Given the description of an element on the screen output the (x, y) to click on. 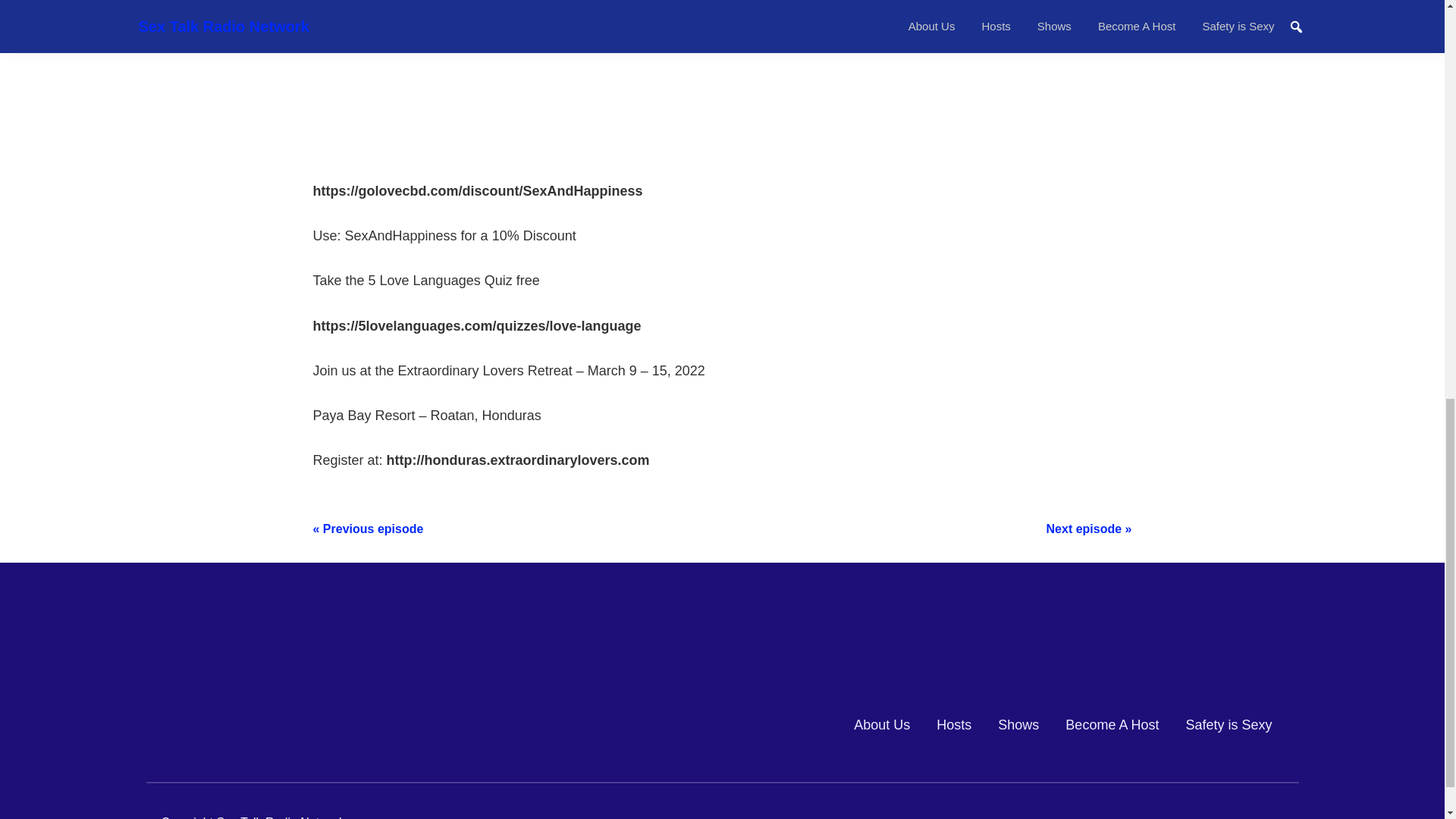
Safety is Sexy (1228, 724)
About Us (881, 724)
Become A Host (1111, 724)
Shows (1018, 724)
Hosts (953, 724)
